Given the description of an element on the screen output the (x, y) to click on. 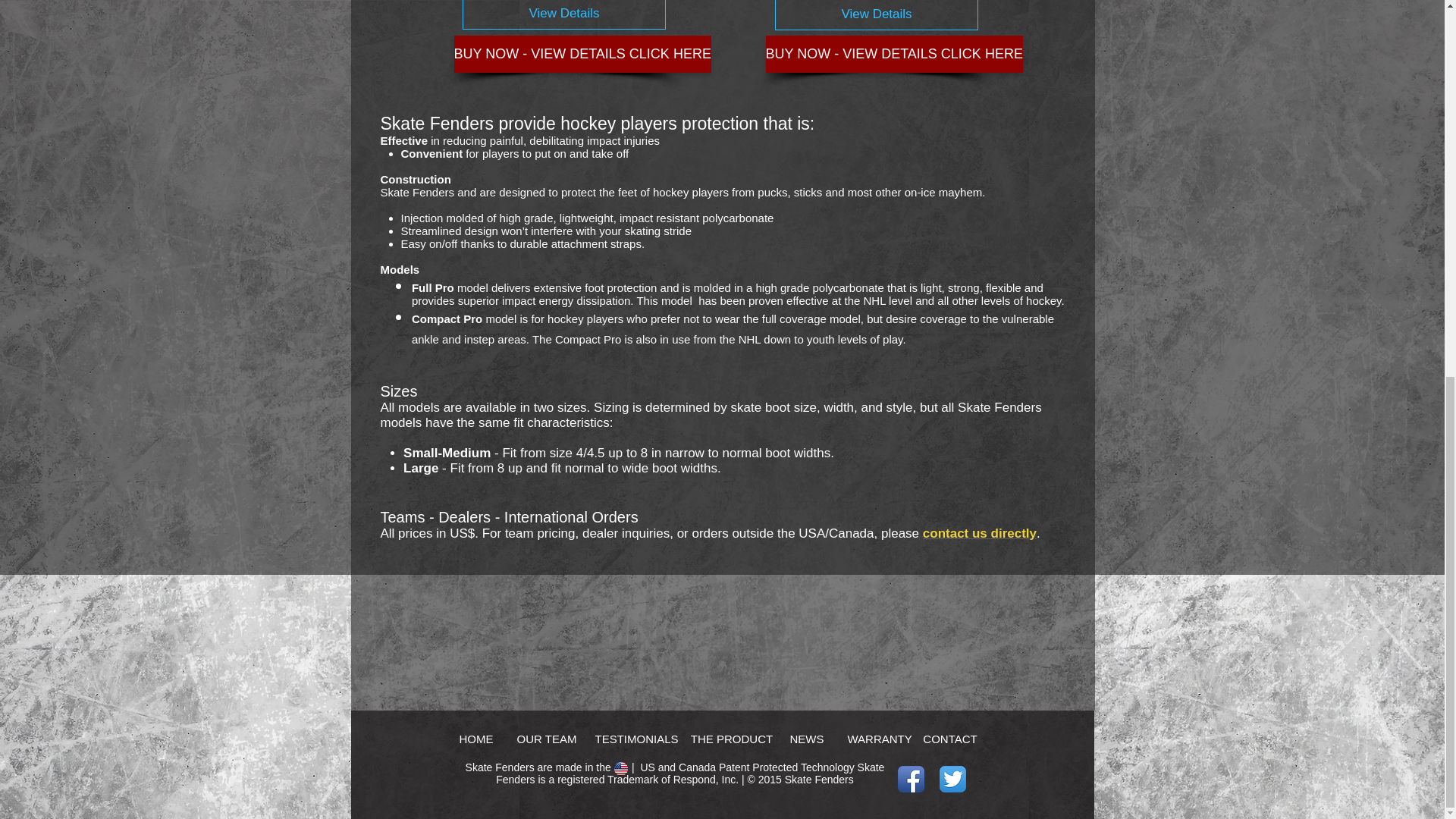
WARRANTY (879, 738)
THE PRODUCT (731, 738)
View Details (564, 14)
CONTACT (948, 738)
contact us directly (979, 533)
OUR TEAM (545, 738)
TESTIMONIALS (636, 738)
BUY NOW - VIEW DETAILS CLICK HERE (894, 54)
View Details (876, 15)
NEWS (807, 738)
